Given the description of an element on the screen output the (x, y) to click on. 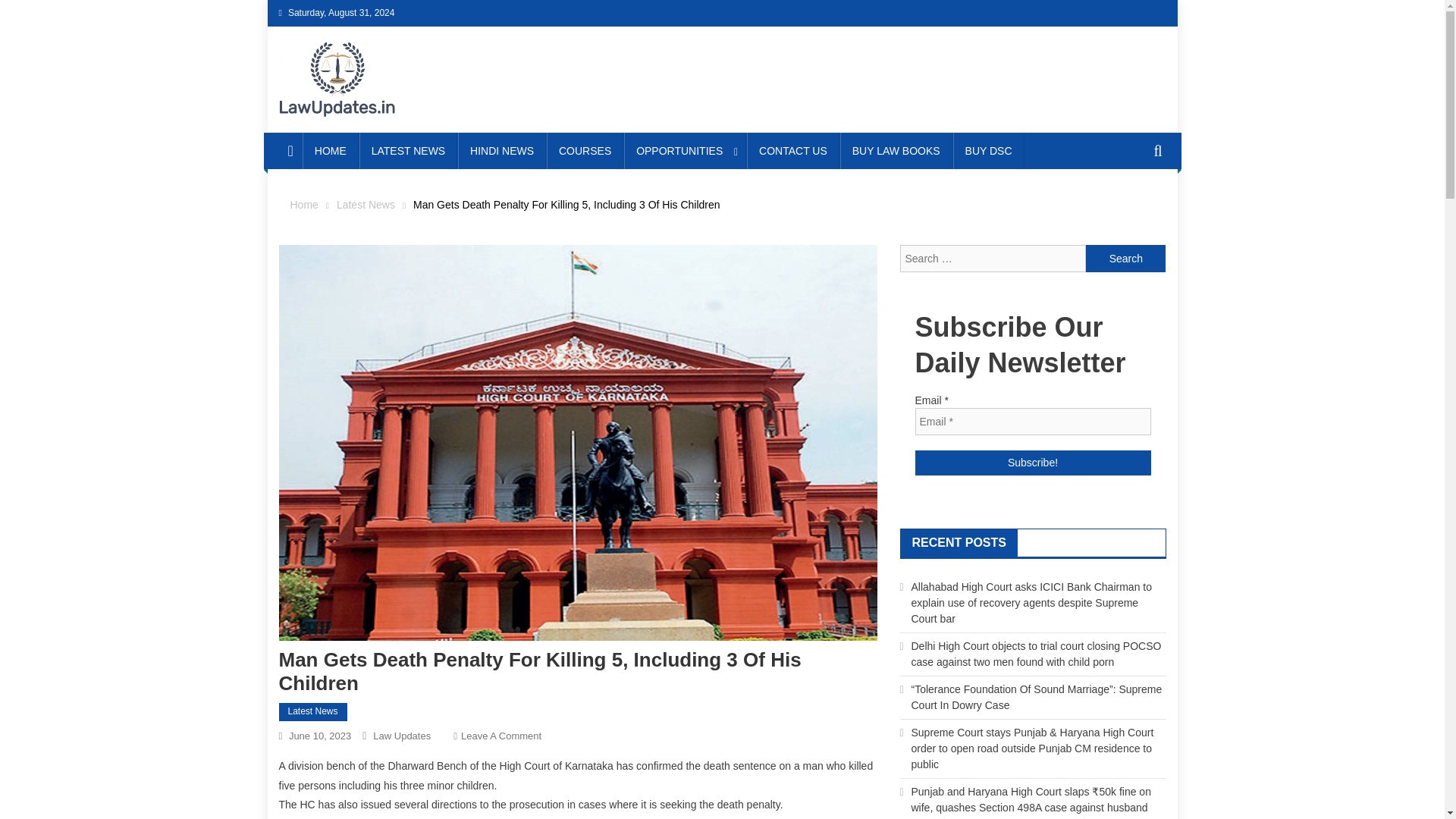
HOME (330, 150)
Search (1126, 257)
Law Updates (401, 736)
Latest News (365, 204)
OPPORTUNITIES (684, 150)
Email (1032, 420)
Subscribe! (1032, 462)
Search (1133, 206)
LATEST NEWS (408, 150)
